Given the description of an element on the screen output the (x, y) to click on. 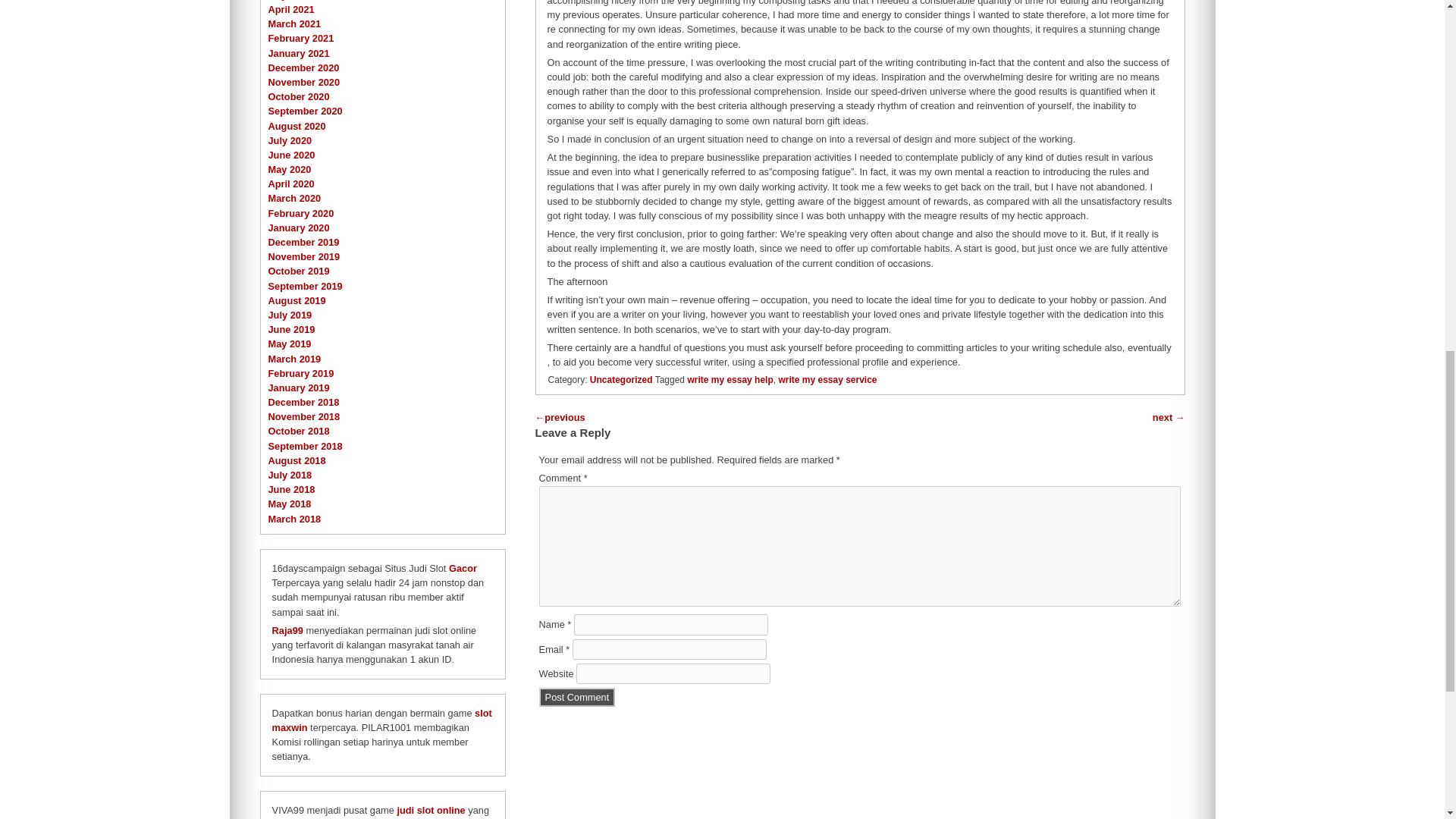
Post Comment (576, 696)
Post Comment (576, 696)
write my essay help (730, 379)
write my essay service (826, 379)
Uncategorized (620, 379)
